Given the description of an element on the screen output the (x, y) to click on. 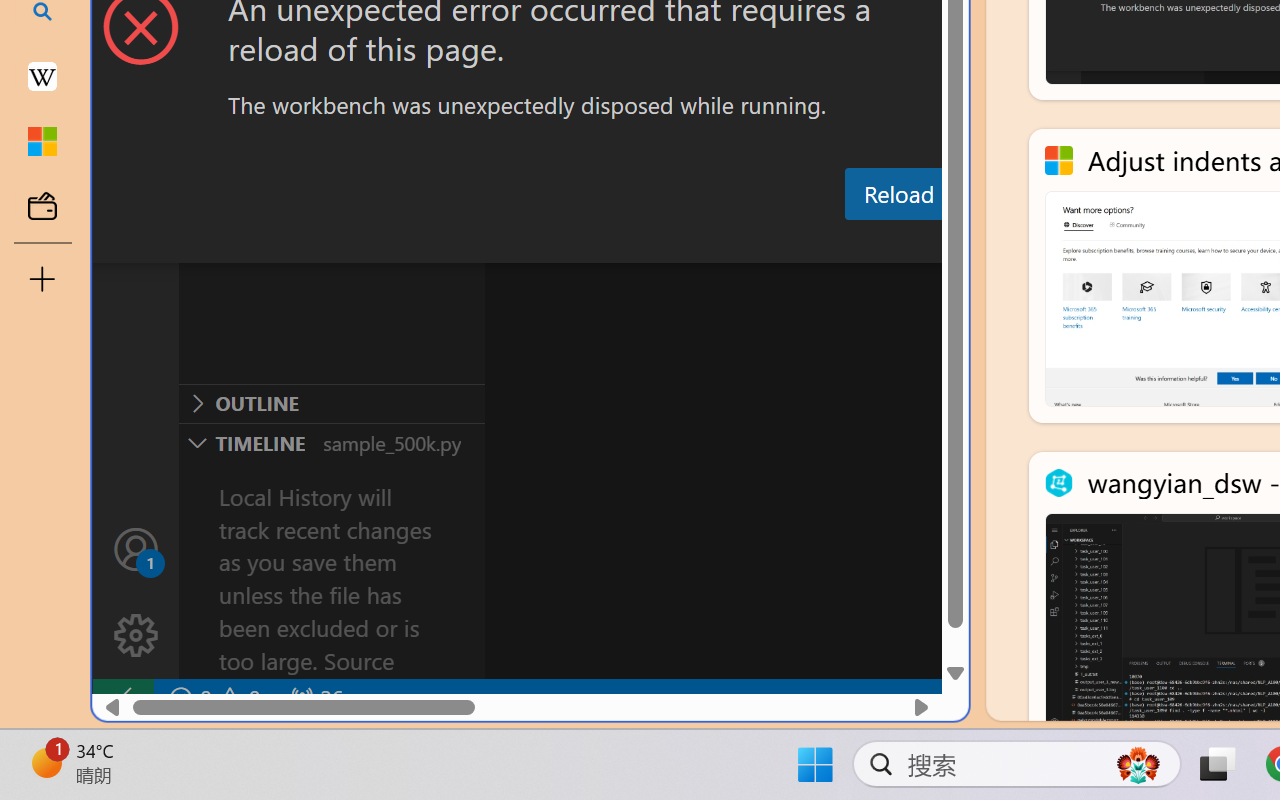
Problems (Ctrl+Shift+M) (567, 243)
Outline Section (331, 403)
Debug Console (Ctrl+Shift+Y) (854, 243)
Output (Ctrl+Shift+U) (696, 243)
Manage (135, 591)
Timeline Section (331, 442)
remote (122, 698)
Reload (898, 193)
Accounts - Sign in requested (135, 548)
Earth - Wikipedia (42, 75)
